Given the description of an element on the screen output the (x, y) to click on. 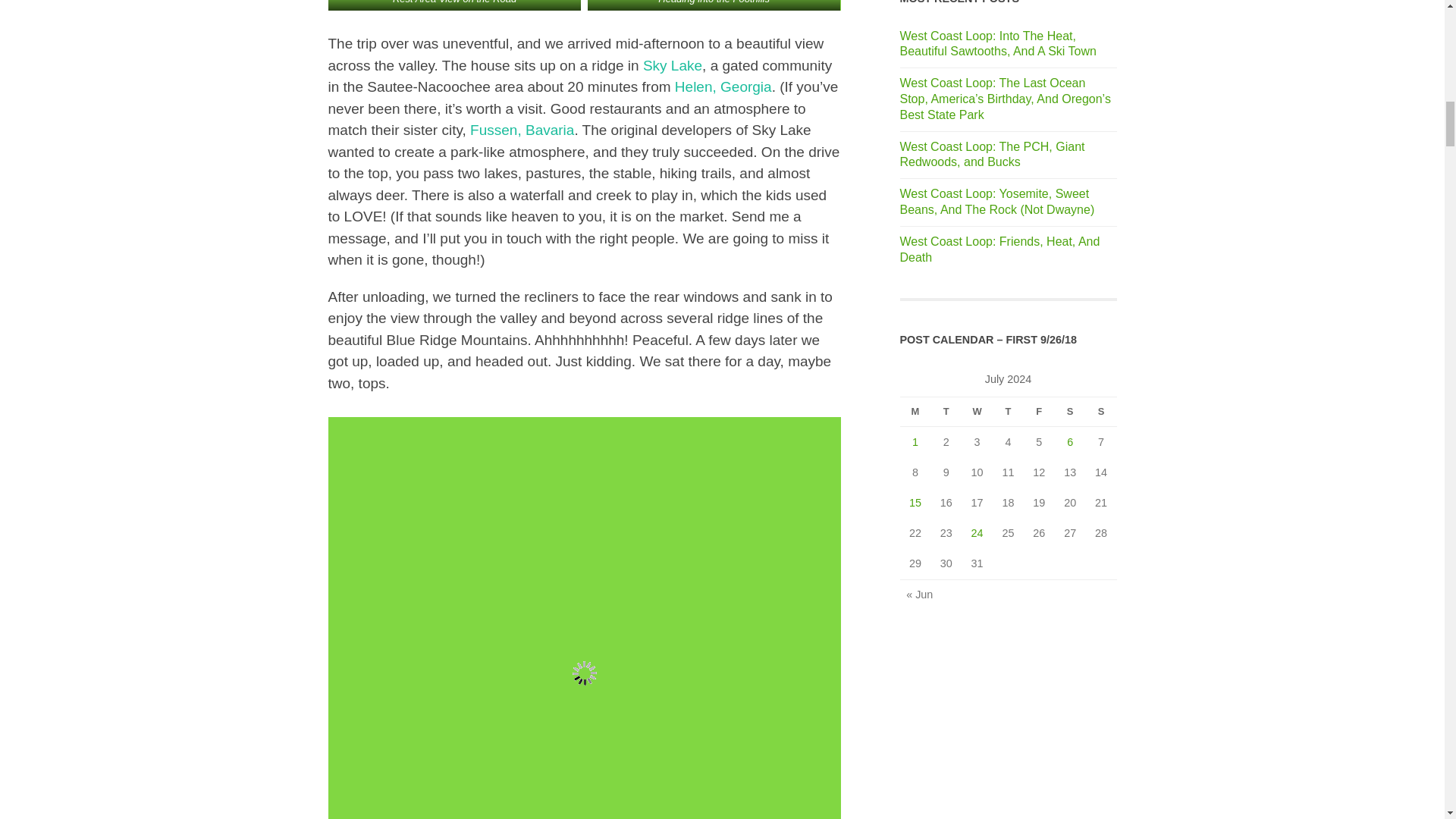
Sky Lake (672, 65)
Thursday (1007, 411)
Tuesday (945, 411)
Helen, Georgia (723, 86)
Wednesday (976, 411)
Saturday (1070, 411)
Monday (914, 411)
Sunday (1101, 411)
Friday (1038, 411)
Fussen, Bavaria (521, 130)
